Given the description of an element on the screen output the (x, y) to click on. 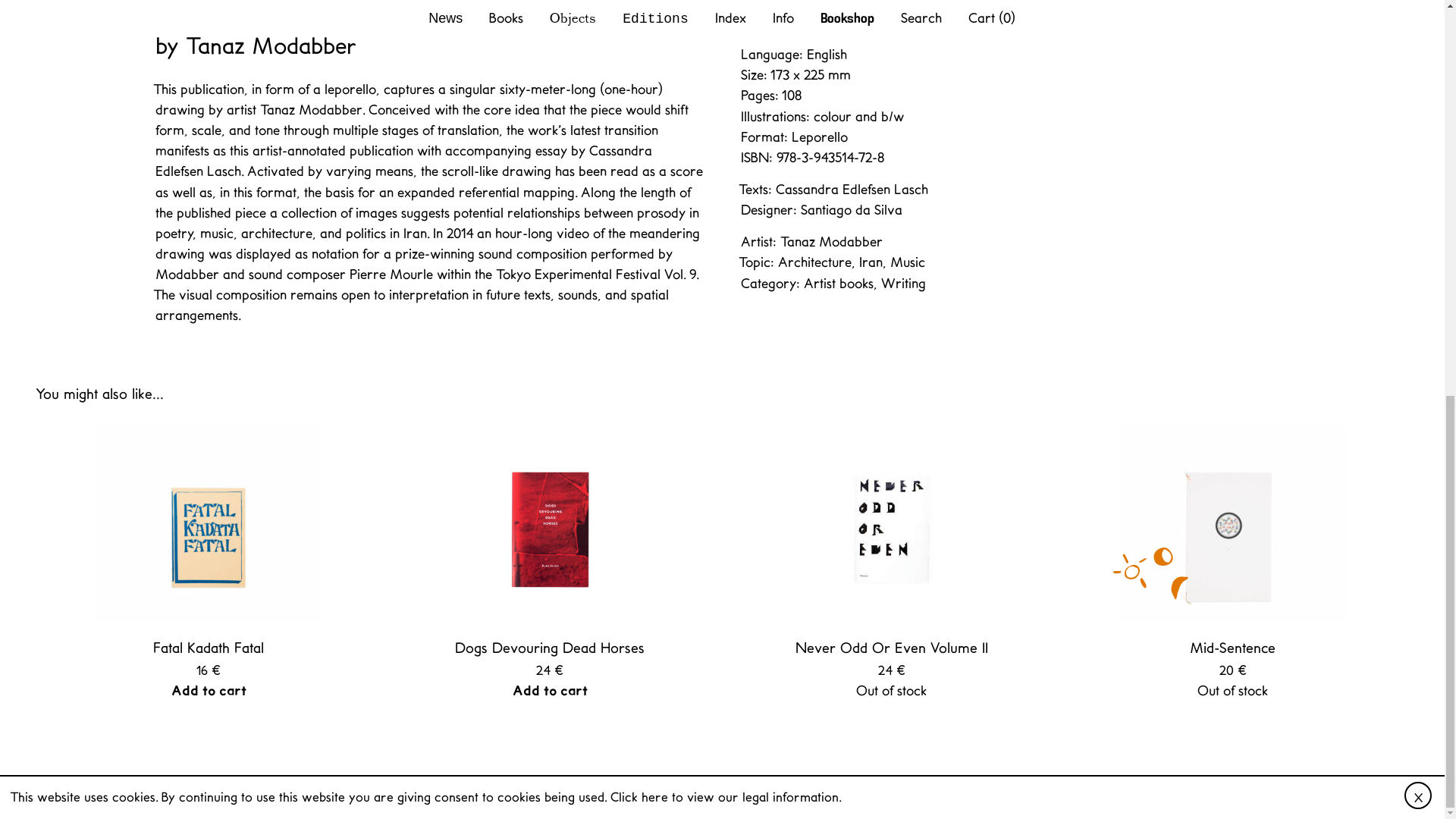
Artist books (838, 282)
Fatal Kadath Fatal (208, 541)
Add to cart (208, 690)
Tokyo Experimental Festival Vol. 9 (596, 273)
Add to cart (778, 25)
Dogs Devouring Dead Horses (549, 541)
harmony-for-vanishing-points (596, 273)
Never Odd Or Even Volume II (891, 541)
Mid-Sentence (1232, 541)
Writing (903, 282)
Add to cart (550, 690)
Click here to view our legal information (724, 30)
